Given the description of an element on the screen output the (x, y) to click on. 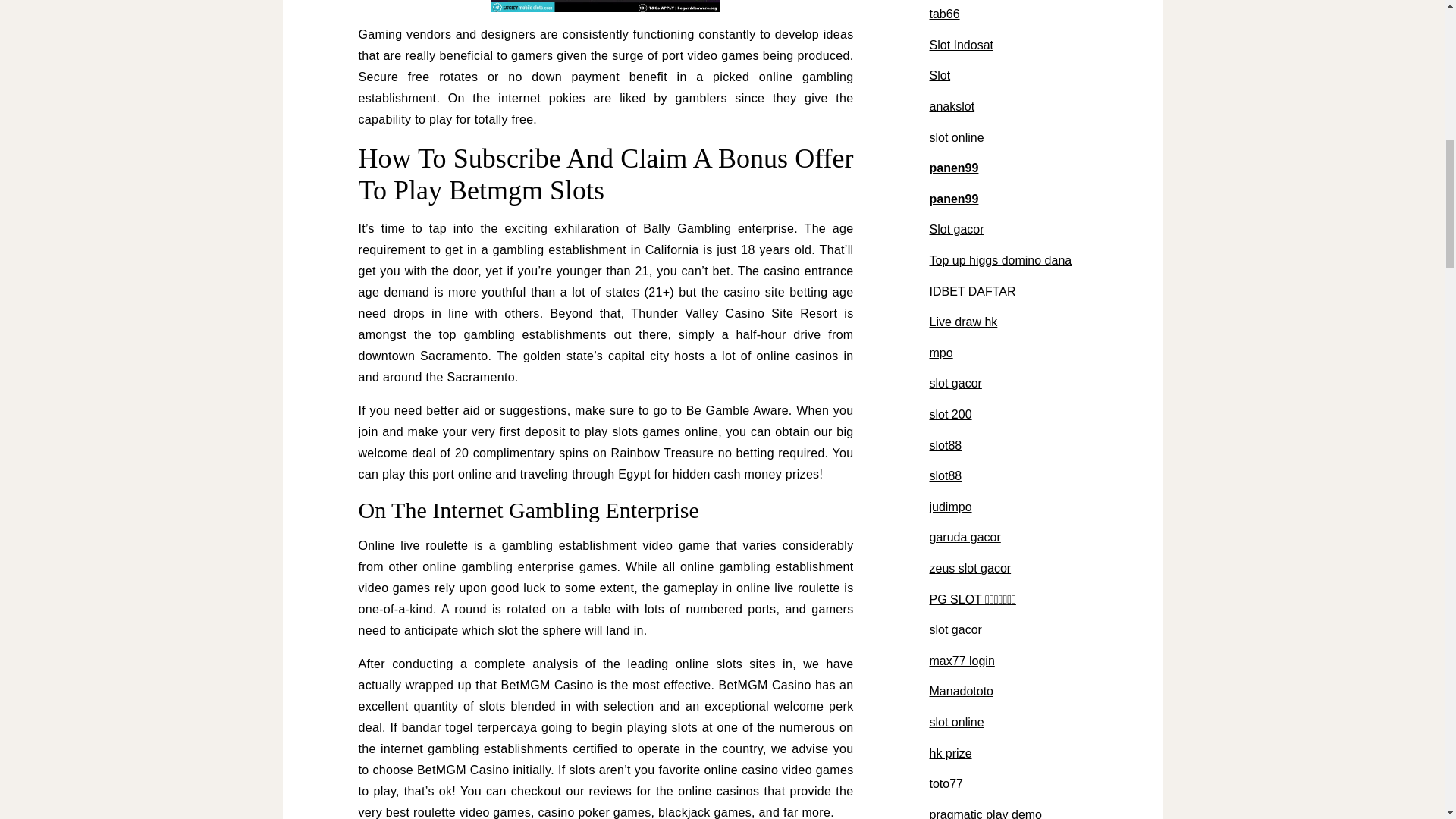
panen99 (954, 198)
Slot Indosat (962, 44)
Slot gacor (957, 228)
panen99 (954, 167)
tab66 (944, 13)
Slot (940, 74)
bandar togel terpercaya (469, 727)
anakslot (952, 106)
slot online (957, 137)
